Given the description of an element on the screen output the (x, y) to click on. 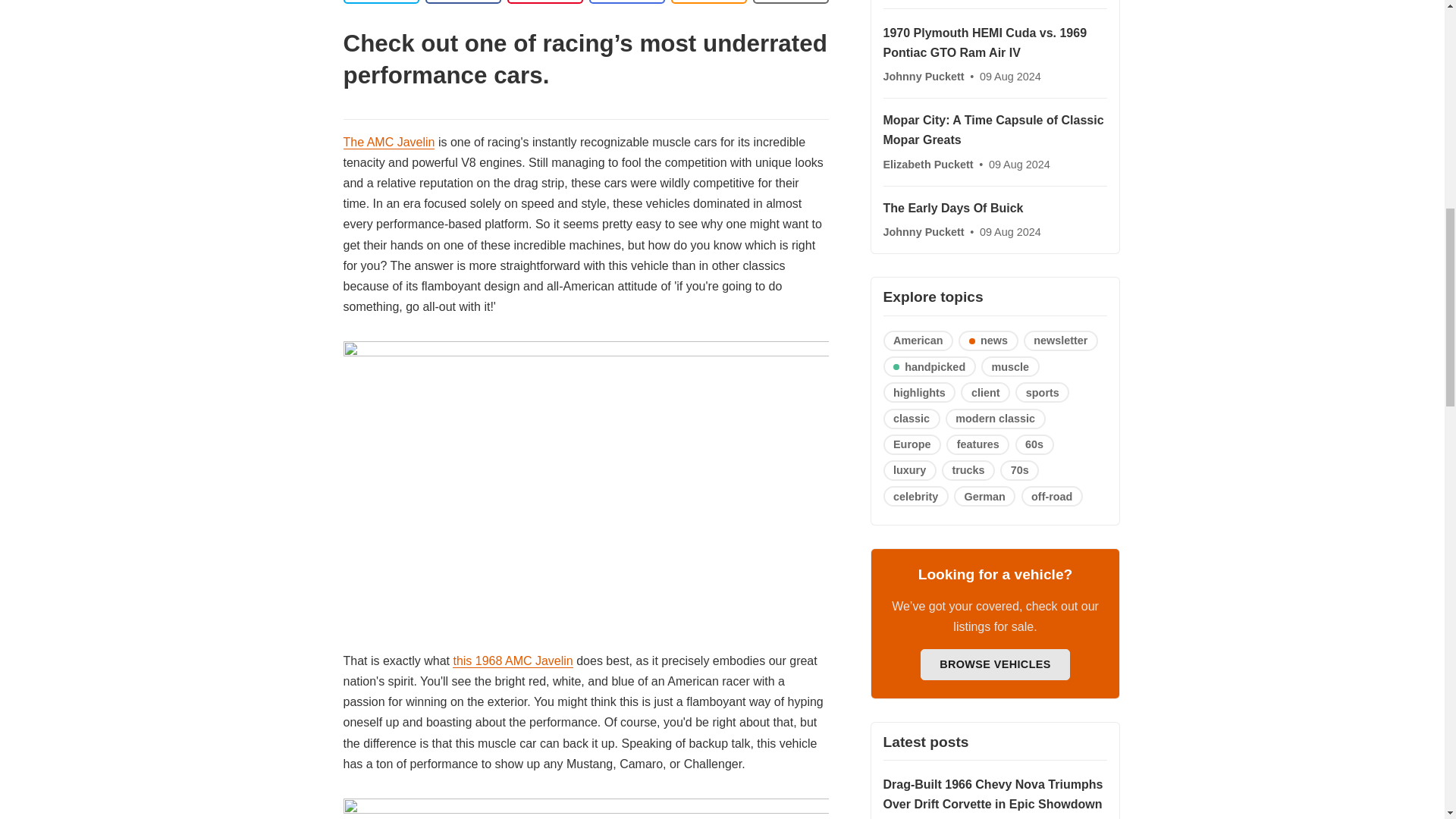
Bookmark (790, 1)
Share on Linkedin (544, 1)
this 1968 AMC Javelin (512, 661)
Johnny Puckett (924, 232)
Elizabeth Puckett (928, 164)
American (917, 340)
Copy to clipboard (707, 1)
news (987, 340)
Johnny Puckett (924, 76)
Share by email (625, 1)
